Given the description of an element on the screen output the (x, y) to click on. 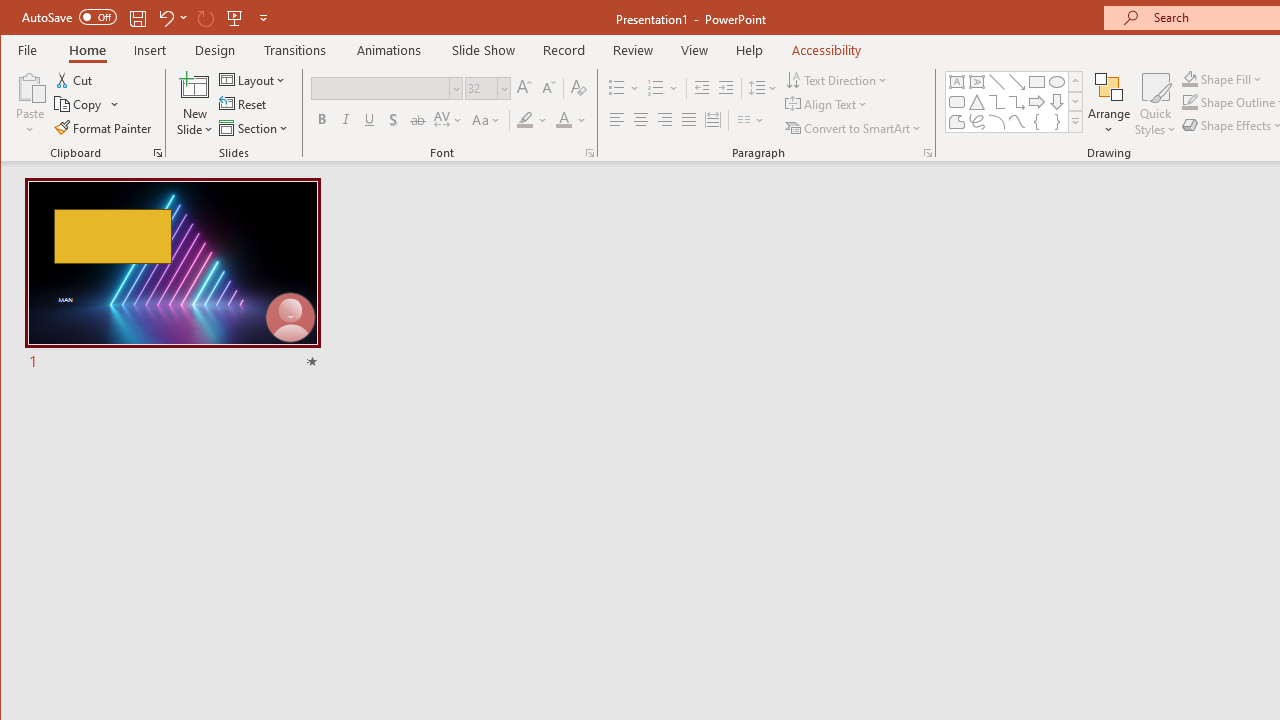
Justify (689, 119)
Connector: Elbow Arrow (1016, 102)
Font Color (571, 119)
Underline (369, 119)
Change Case (486, 119)
Decrease Font Size (548, 88)
